Given the description of an element on the screen output the (x, y) to click on. 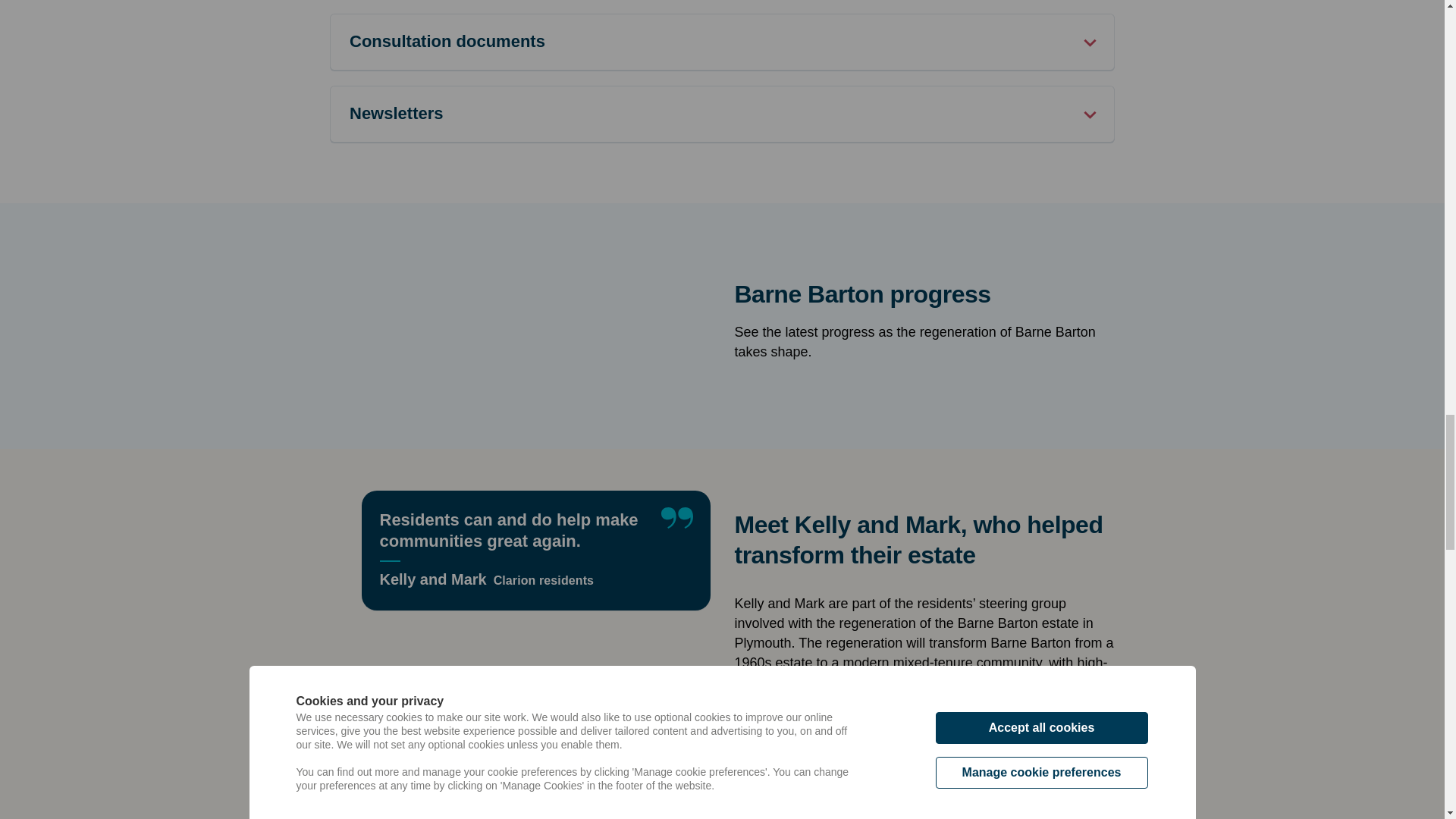
Newsletters (721, 113)
Consultation documents (721, 41)
